Given the description of an element on the screen output the (x, y) to click on. 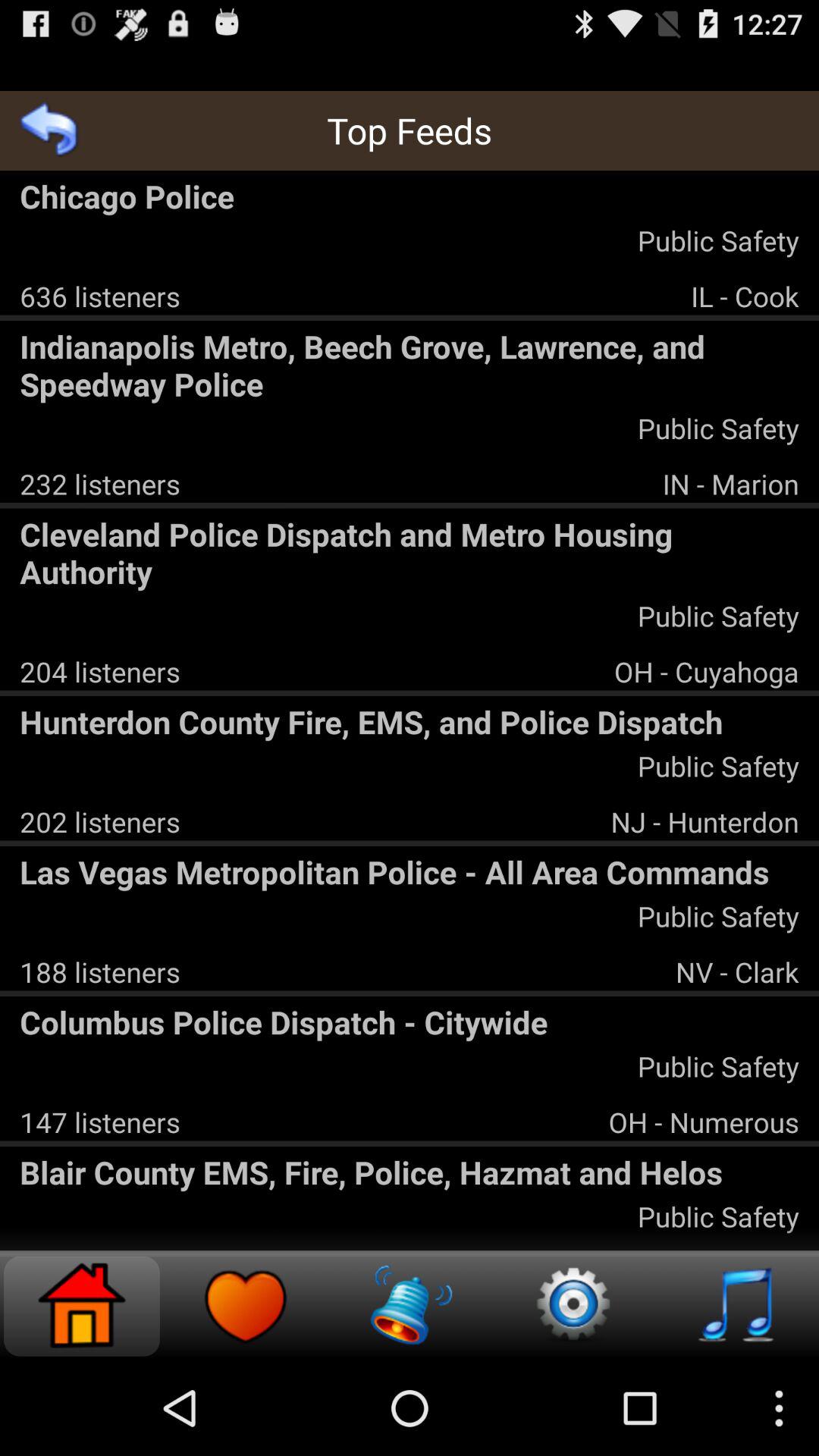
click the bell icon (409, 1305)
